Given the description of an element on the screen output the (x, y) to click on. 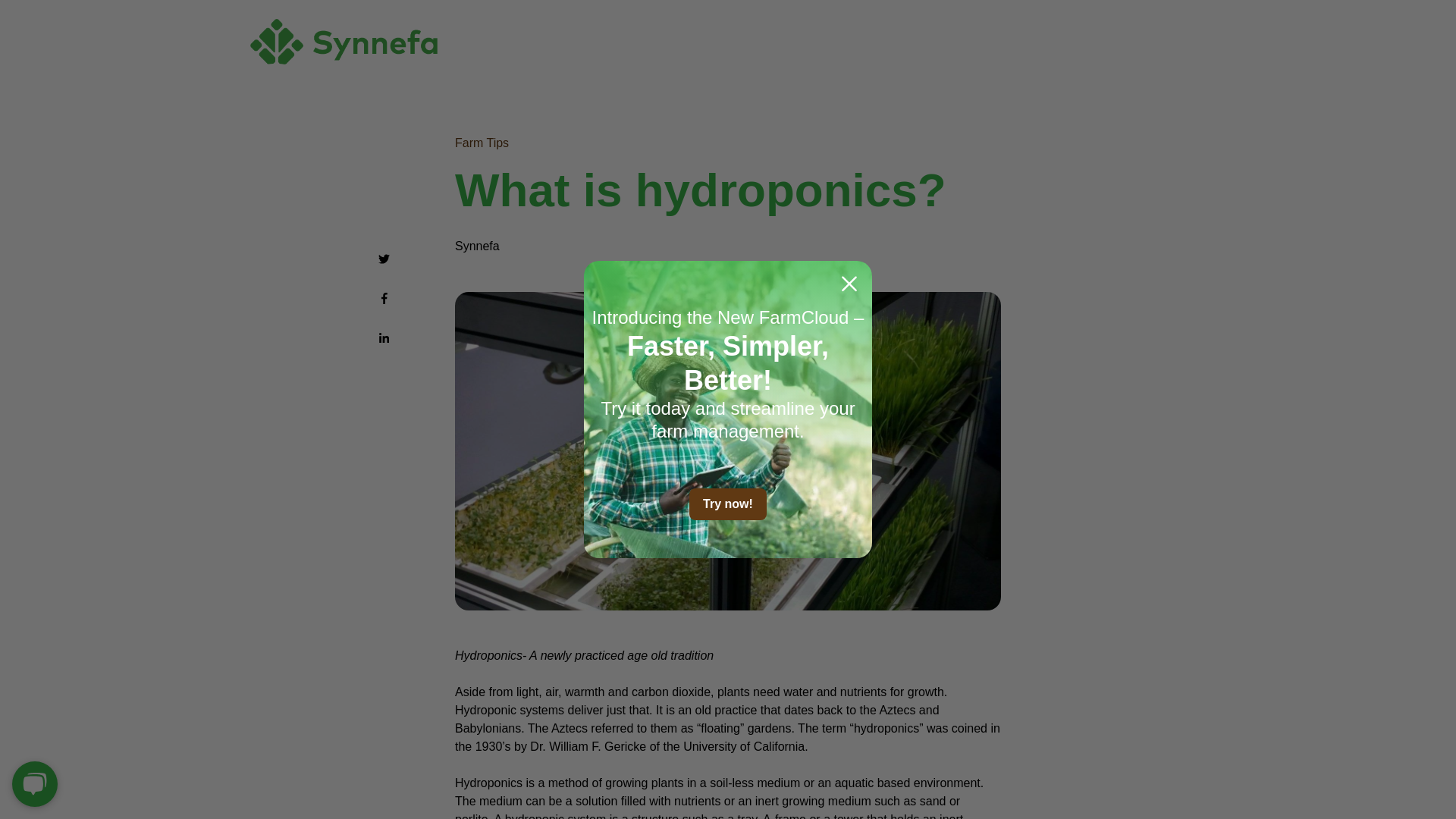
Small-Jan-19-2022-01-44-11-65-PM (344, 41)
Share this blog post on Facebook (384, 298)
Share this blog post on LinkedIn (383, 337)
Share this blog post on LinkedIn (384, 338)
Chat Widget (37, 782)
Share this blog post on Facebook (384, 297)
Synnefa (476, 245)
Farm Tips (481, 143)
Share this blog post on Twitter (383, 260)
Popup CTA (727, 409)
Share this blog post on Twitter (384, 258)
